Given the description of an element on the screen output the (x, y) to click on. 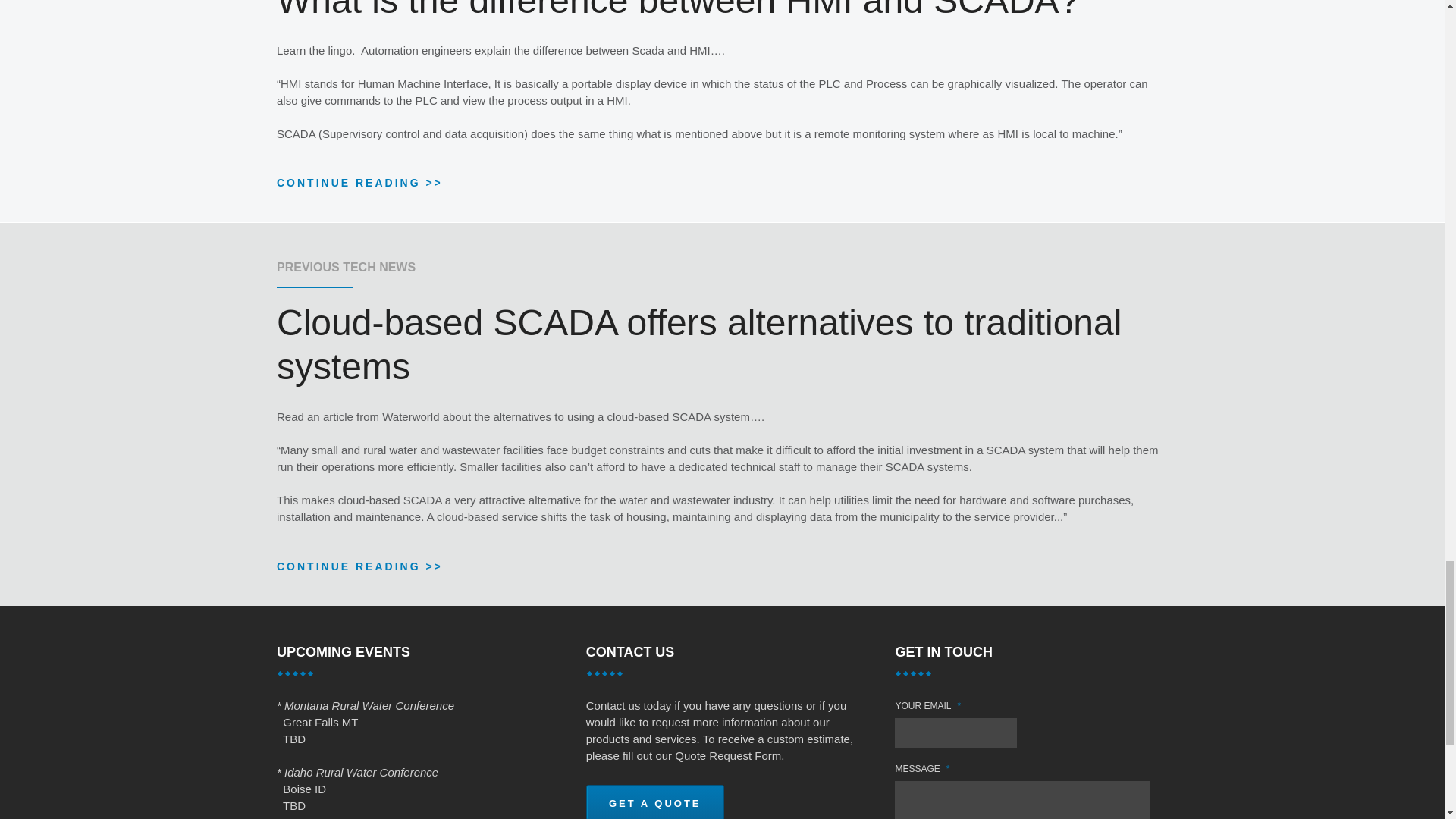
GET A QUOTE (654, 801)
